Given the description of an element on the screen output the (x, y) to click on. 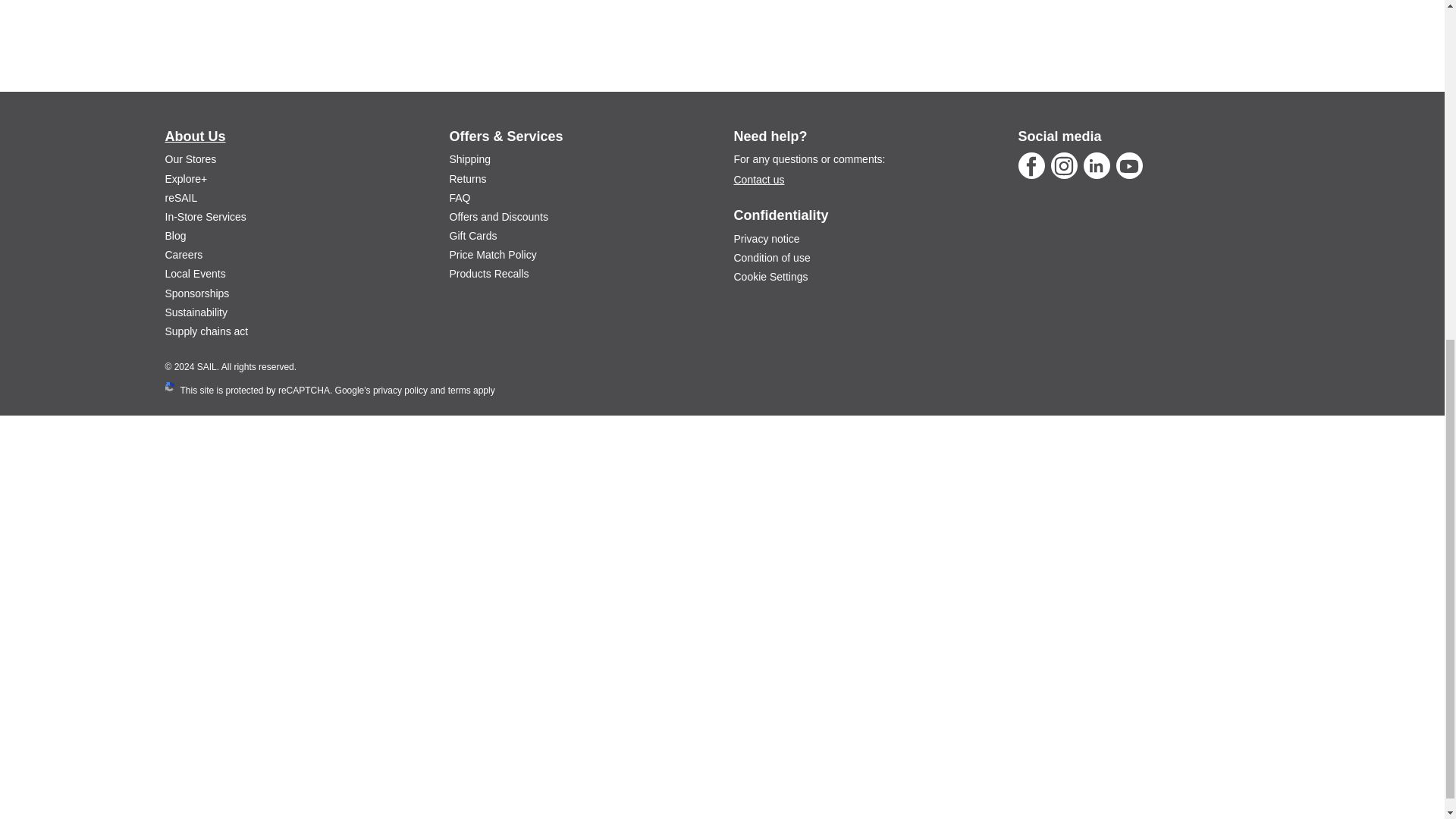
Career (184, 254)
Our Stores (190, 159)
Sail Blog (175, 235)
Plateform for second-hand products (181, 197)
Rewards Program (186, 178)
Sponsorships (197, 293)
Local Events (195, 273)
In-Store Services (205, 216)
